Given the description of an element on the screen output the (x, y) to click on. 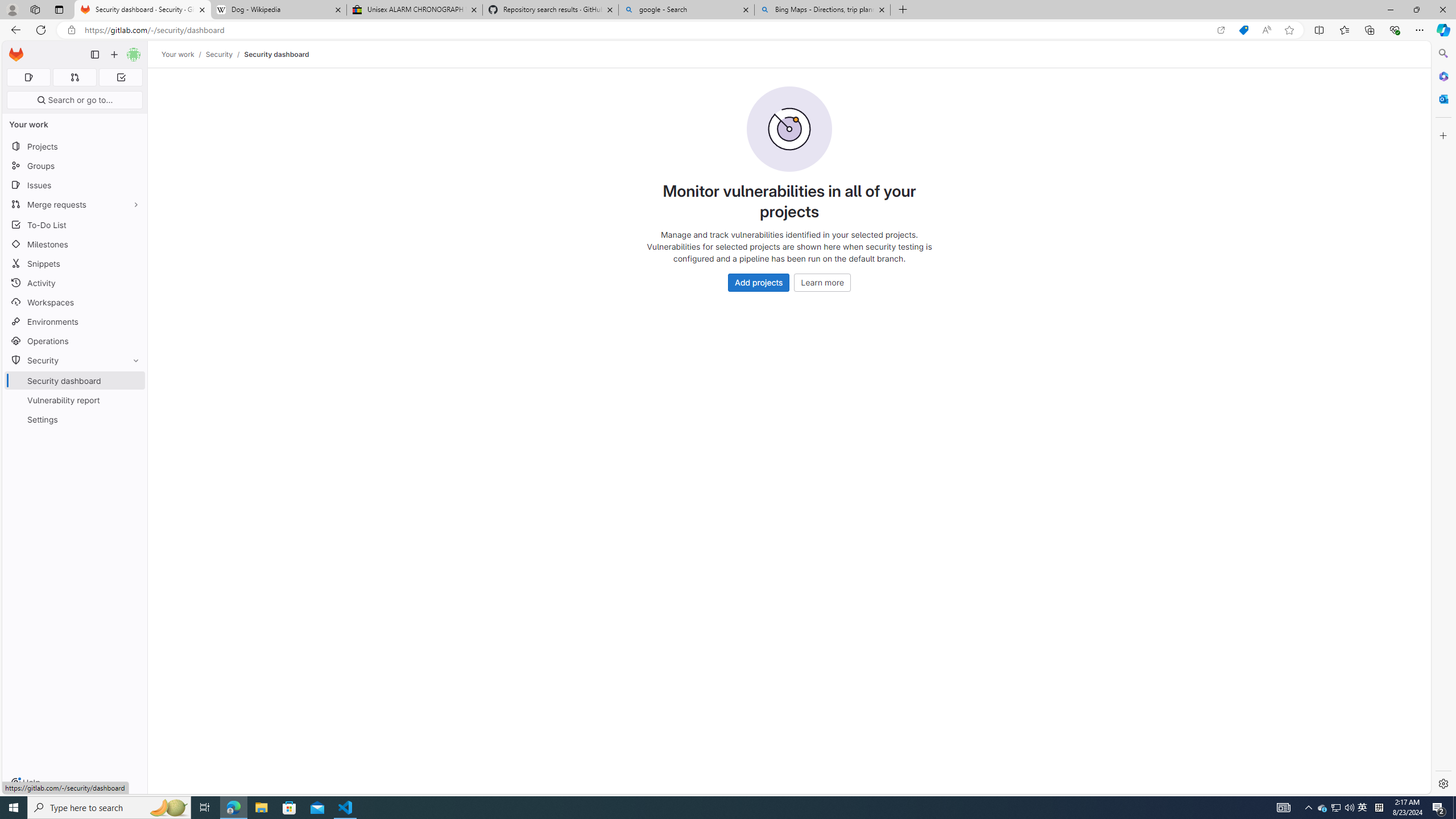
Favorites (1344, 29)
Outlook (1442, 98)
Close (1442, 9)
Merge requests 0 (74, 76)
Settings and more (Alt+F) (1419, 29)
Create new... (113, 54)
To-Do List (74, 224)
Workspaces (74, 302)
Environments (74, 321)
Read aloud this page (Ctrl+Shift+U) (1266, 29)
Restore (1416, 9)
Snippets (74, 262)
Snippets (74, 262)
